Given the description of an element on the screen output the (x, y) to click on. 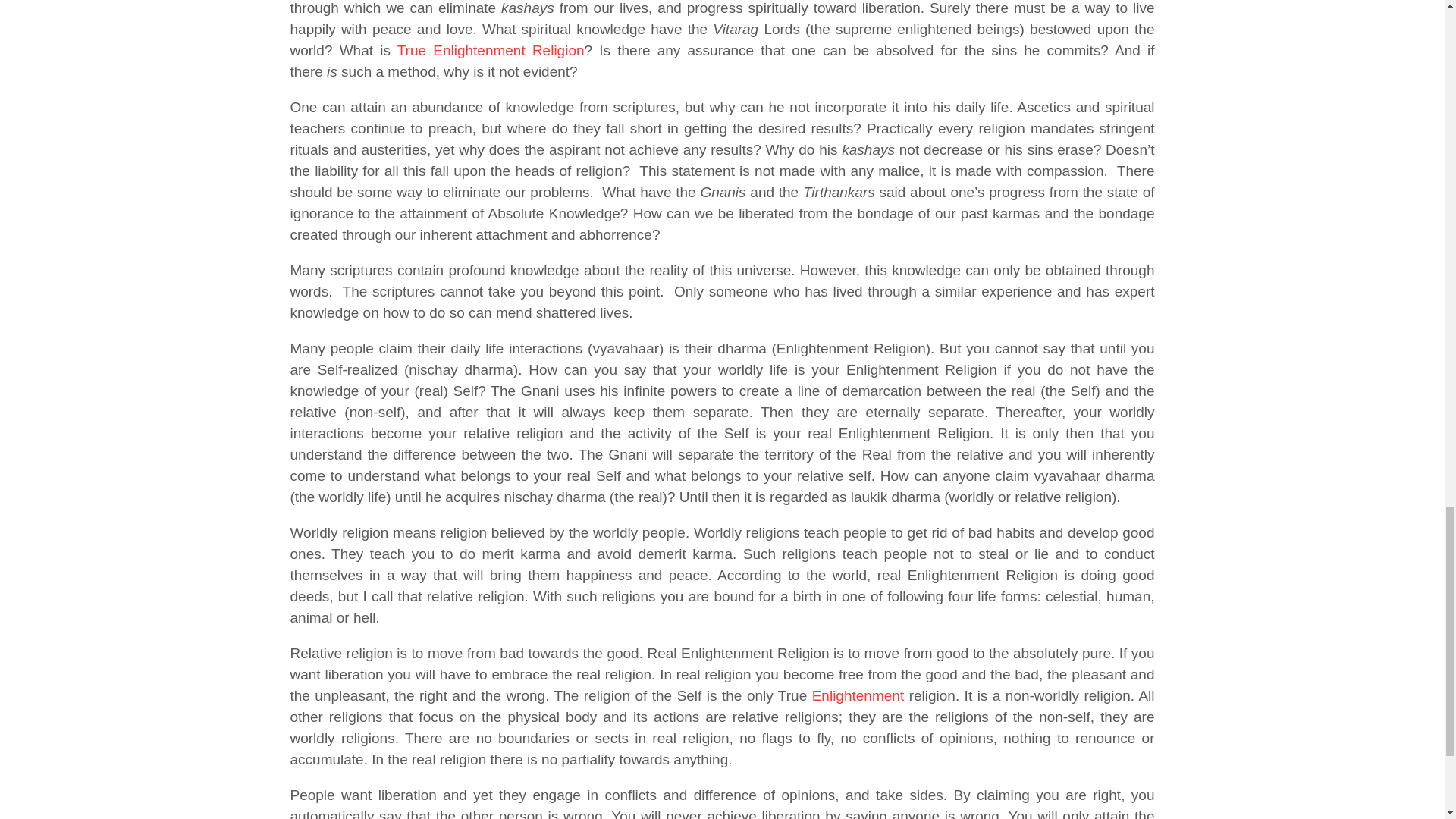
What is Enlightenment (858, 695)
True Enlightenment Religion (491, 50)
True Enlightenment (491, 50)
Enlightenment (858, 695)
